Given the description of an element on the screen output the (x, y) to click on. 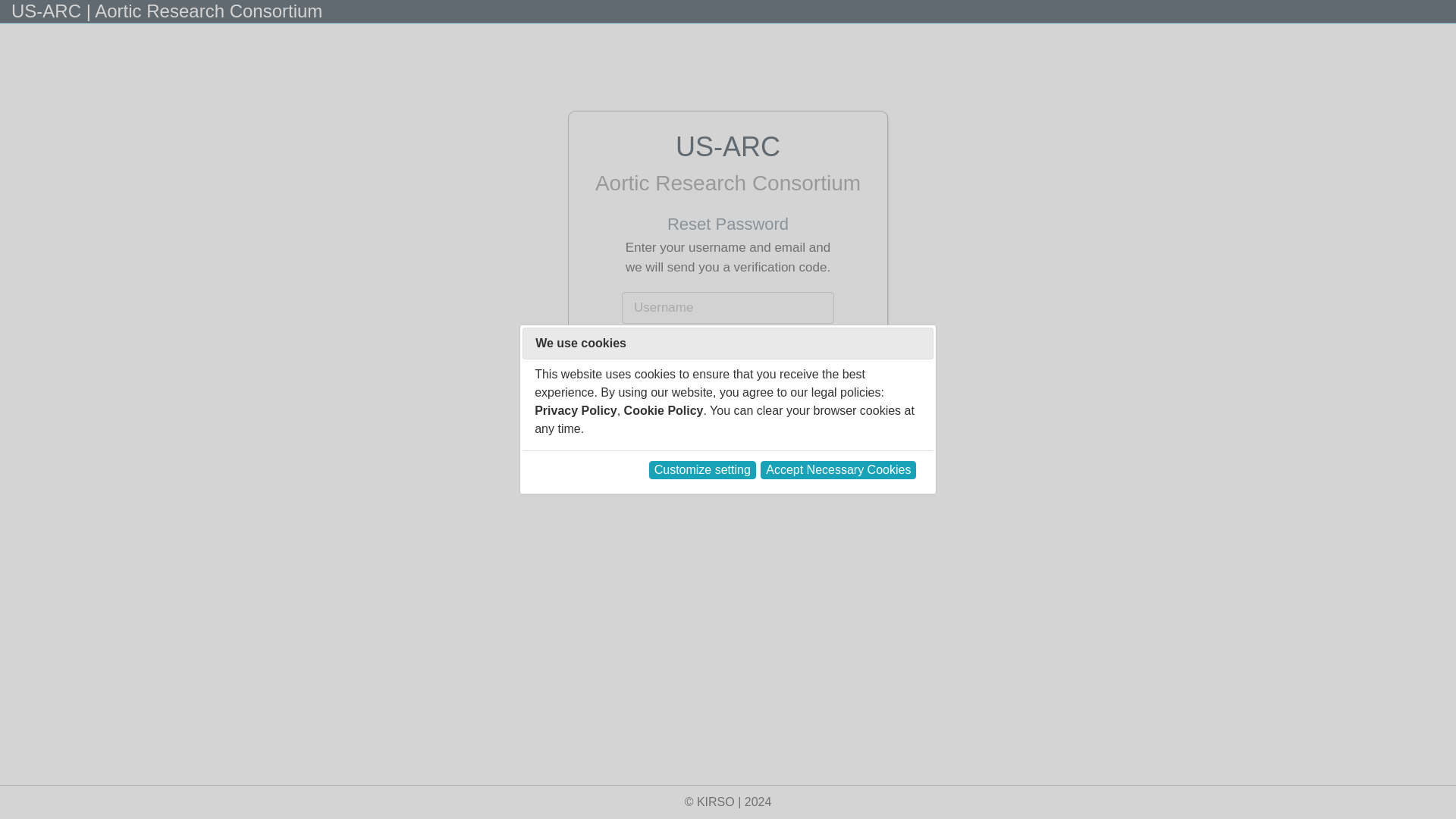
Cookie Policy (663, 410)
Submit (727, 395)
Privacy Policy (575, 410)
Customize setting (702, 470)
Accept Necessary Cookies (837, 470)
